Given the description of an element on the screen output the (x, y) to click on. 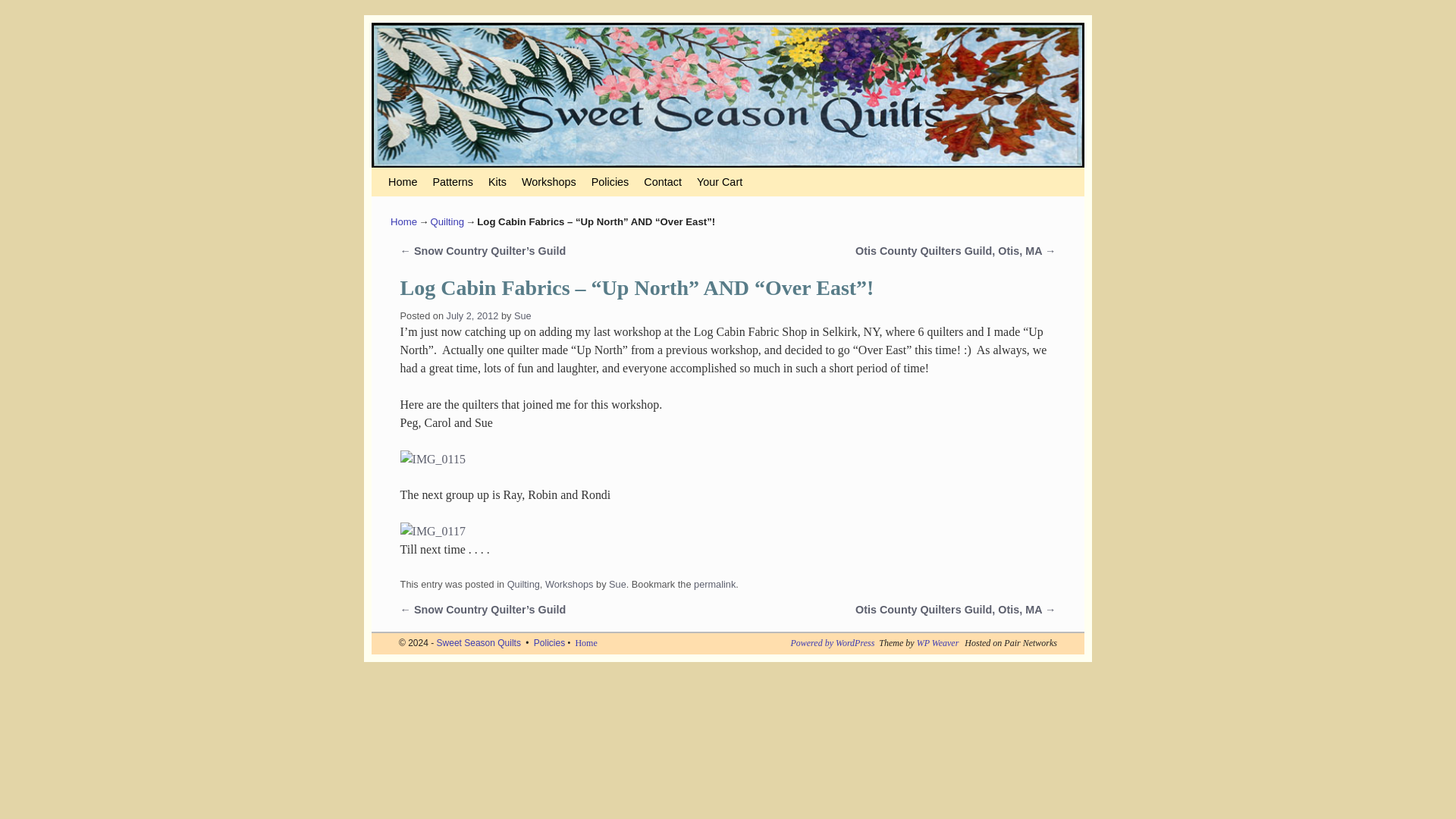
View all posts by Sue (522, 315)
Sweet Season Quilts (478, 643)
Skip to secondary content (458, 181)
wordpress.org (832, 643)
3:01 am (472, 315)
Skip to primary content (451, 181)
Patterns (452, 181)
Home (402, 181)
